Given the description of an element on the screen output the (x, y) to click on. 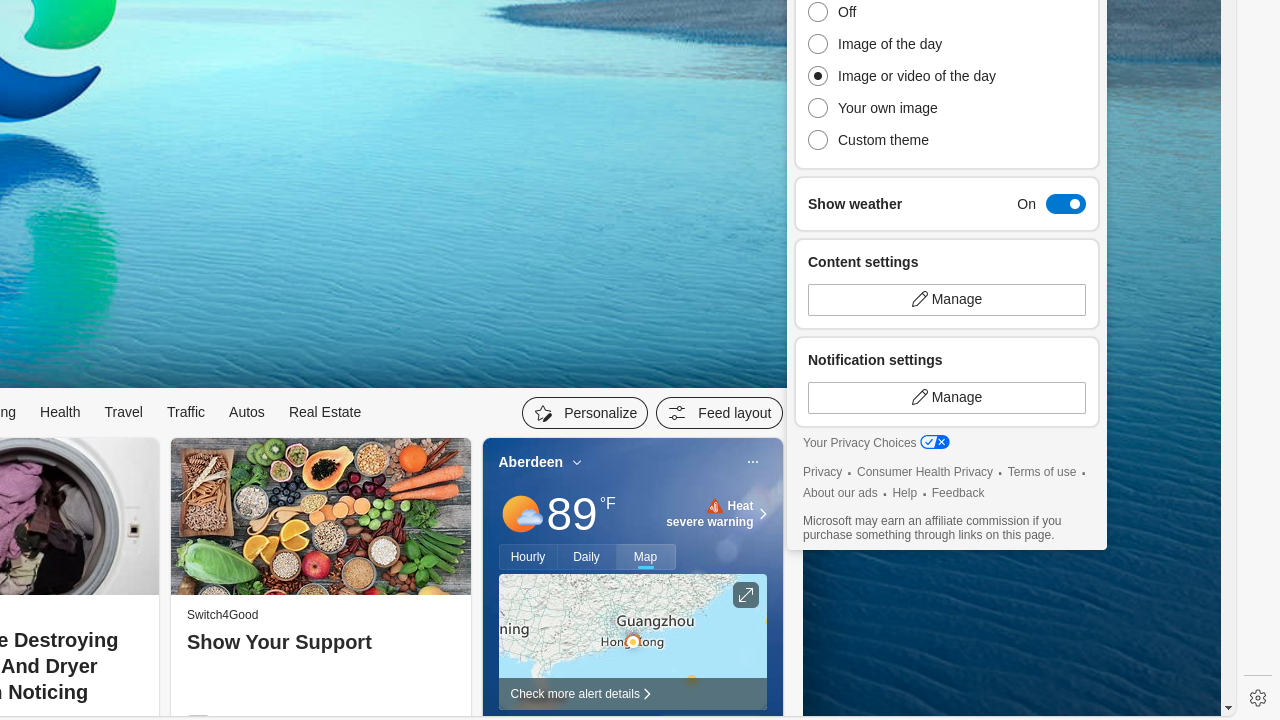
Feedback Element type: link (958, 493)
Map Element type: list-item (646, 557)
Click to see more information Element type: link (745, 595)
Switch4Good Element type: link (222, 615)
Consumer Health Privacy Element type: link (925, 472)
